Given the description of an element on the screen output the (x, y) to click on. 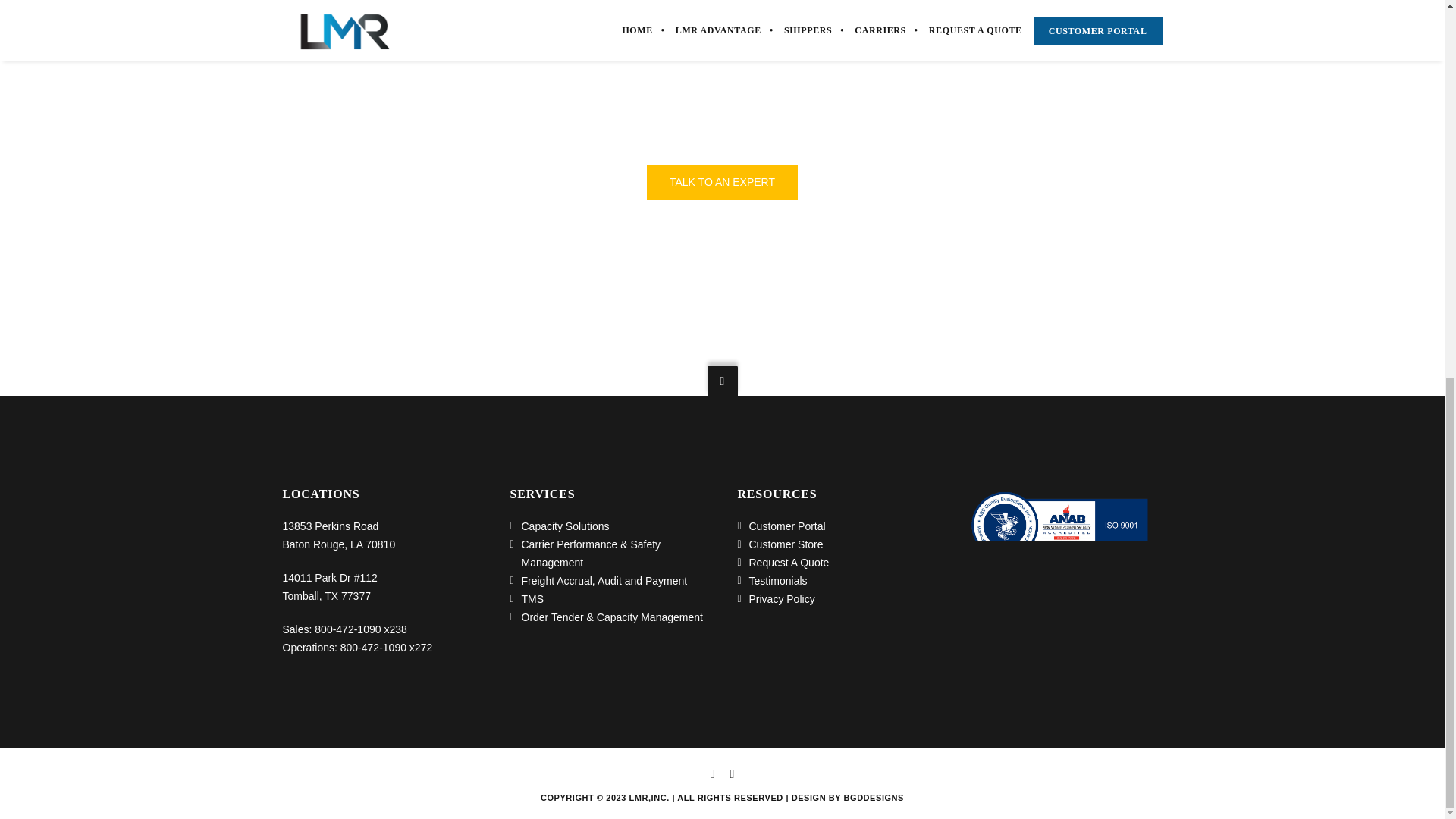
Capacity Solutions (565, 525)
TALK TO AN EXPERT (721, 181)
800-472-1090 (347, 628)
800-472-1090 (373, 646)
